Given the description of an element on the screen output the (x, y) to click on. 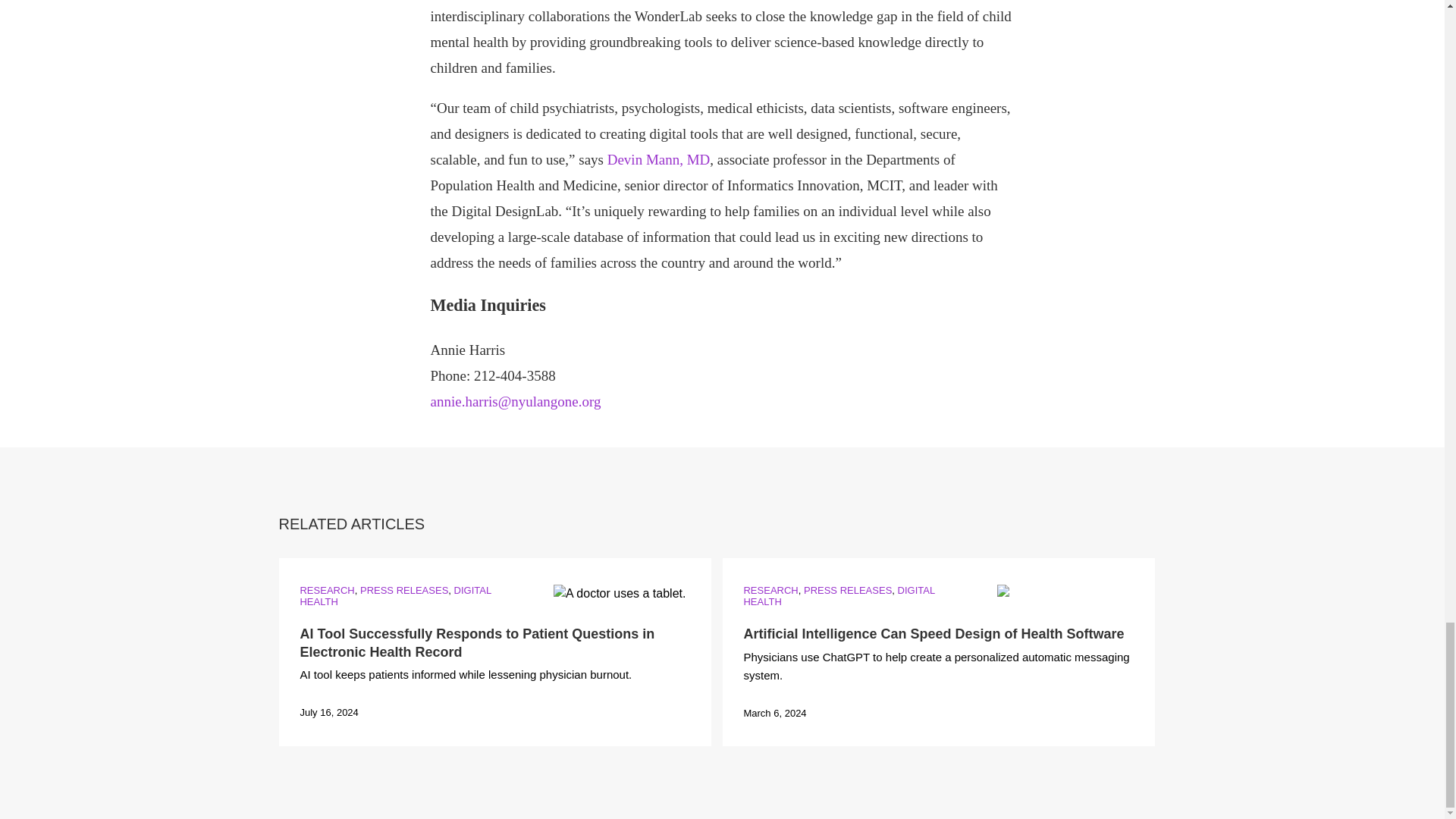
RESEARCH (326, 590)
RESEARCH (769, 590)
DIGITAL HEALTH (838, 596)
DIGITAL HEALTH (394, 596)
Devin Mann, MD (658, 159)
PRESS RELEASES (403, 590)
Artificial Intelligence Can Speed Design of Health Software (933, 633)
PRESS RELEASES (847, 590)
